Given the description of an element on the screen output the (x, y) to click on. 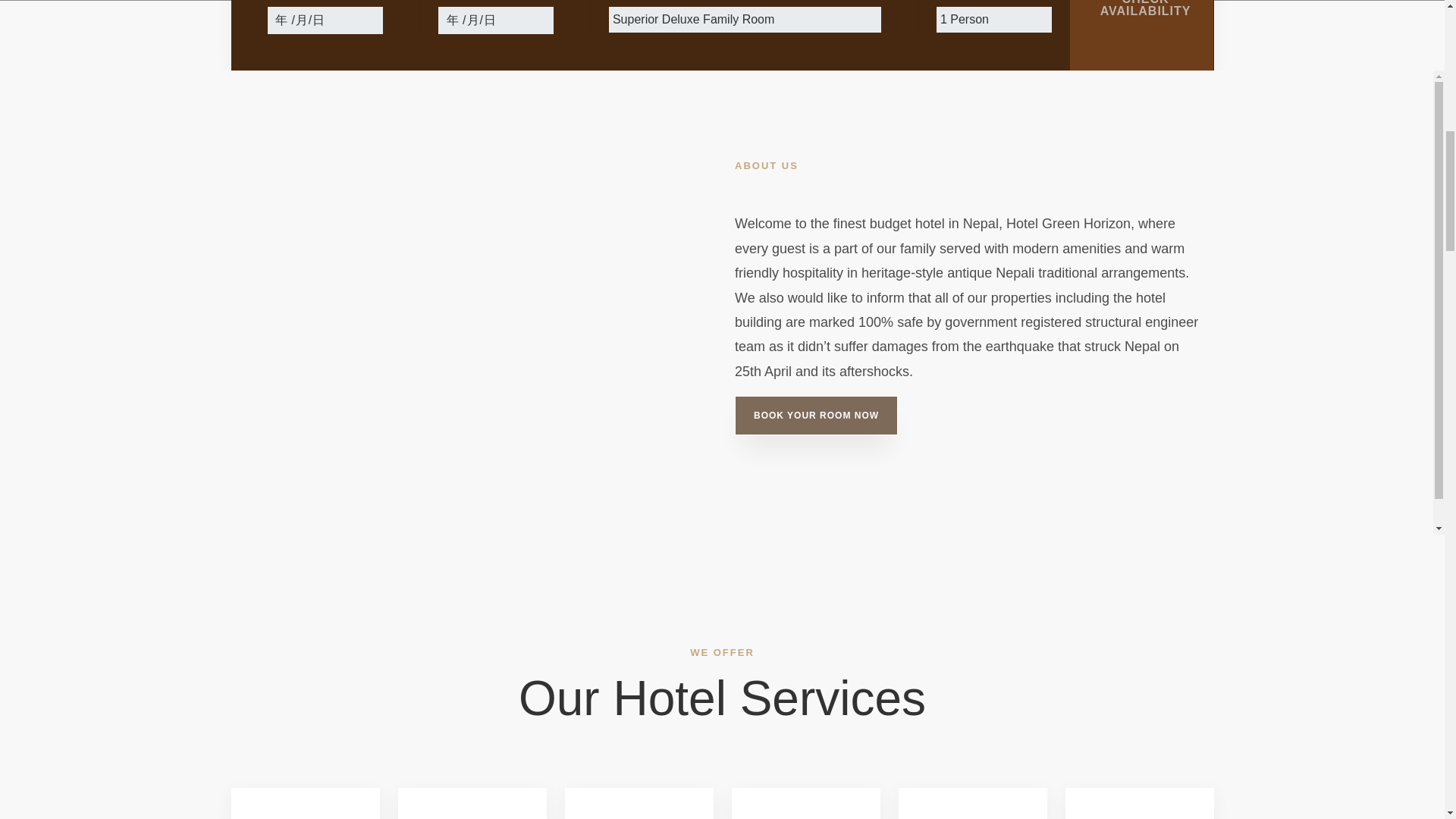
Laundry Service (804, 803)
Restaurant (638, 803)
Free Wifi (304, 803)
Easy Booking (471, 803)
Natural Garden (972, 803)
CHECK AVAILABILITY (1142, 35)
BOOK YOUR ROOM NOW (816, 414)
